Given the description of an element on the screen output the (x, y) to click on. 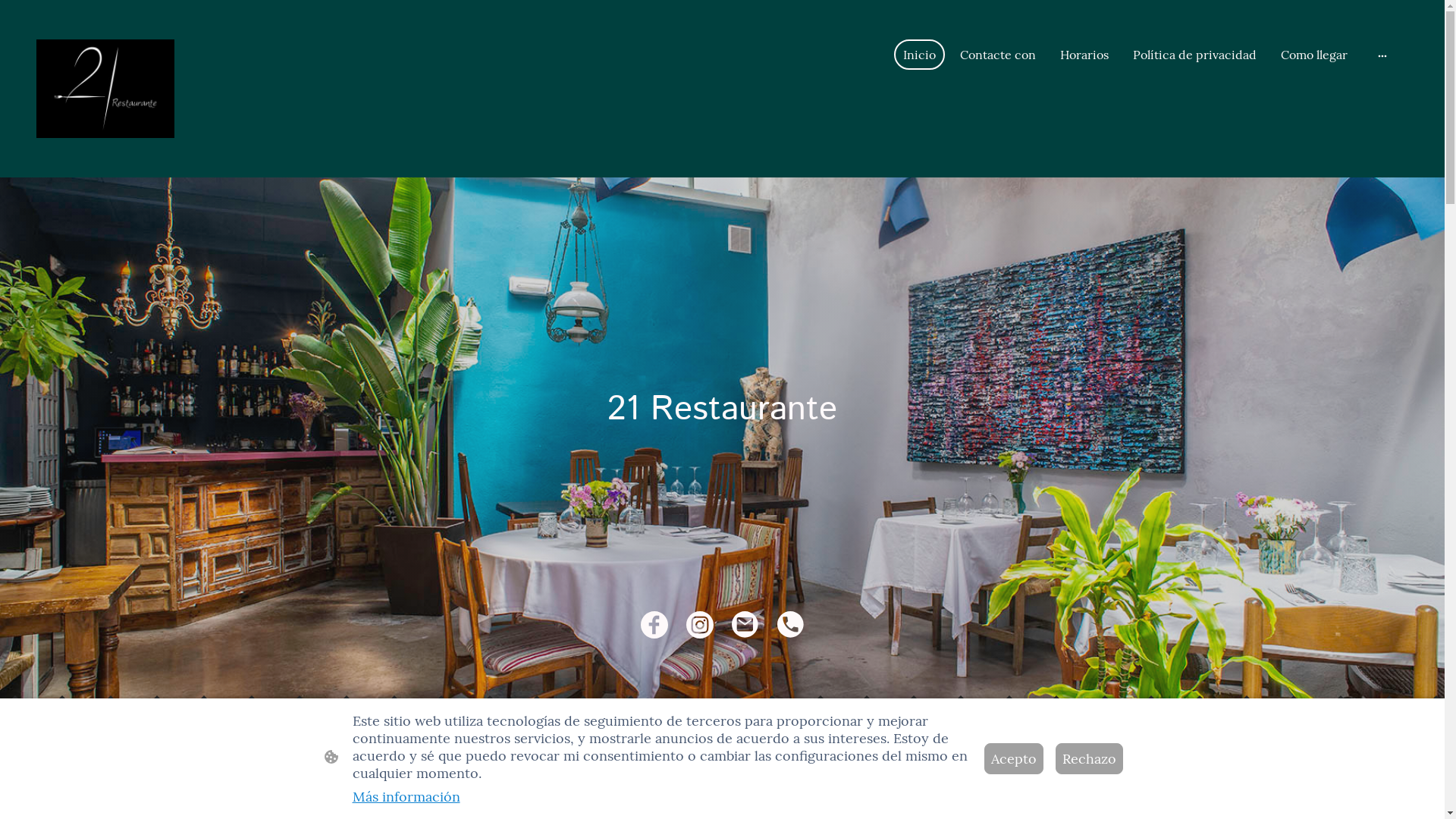
Contacte con Element type: text (997, 54)
Inicio Element type: text (919, 54)
Rechazo Element type: text (1089, 758)
Horarios Element type: text (1084, 54)
Acepto Element type: text (1013, 758)
Como llegar Element type: text (1314, 54)
